Given the description of an element on the screen output the (x, y) to click on. 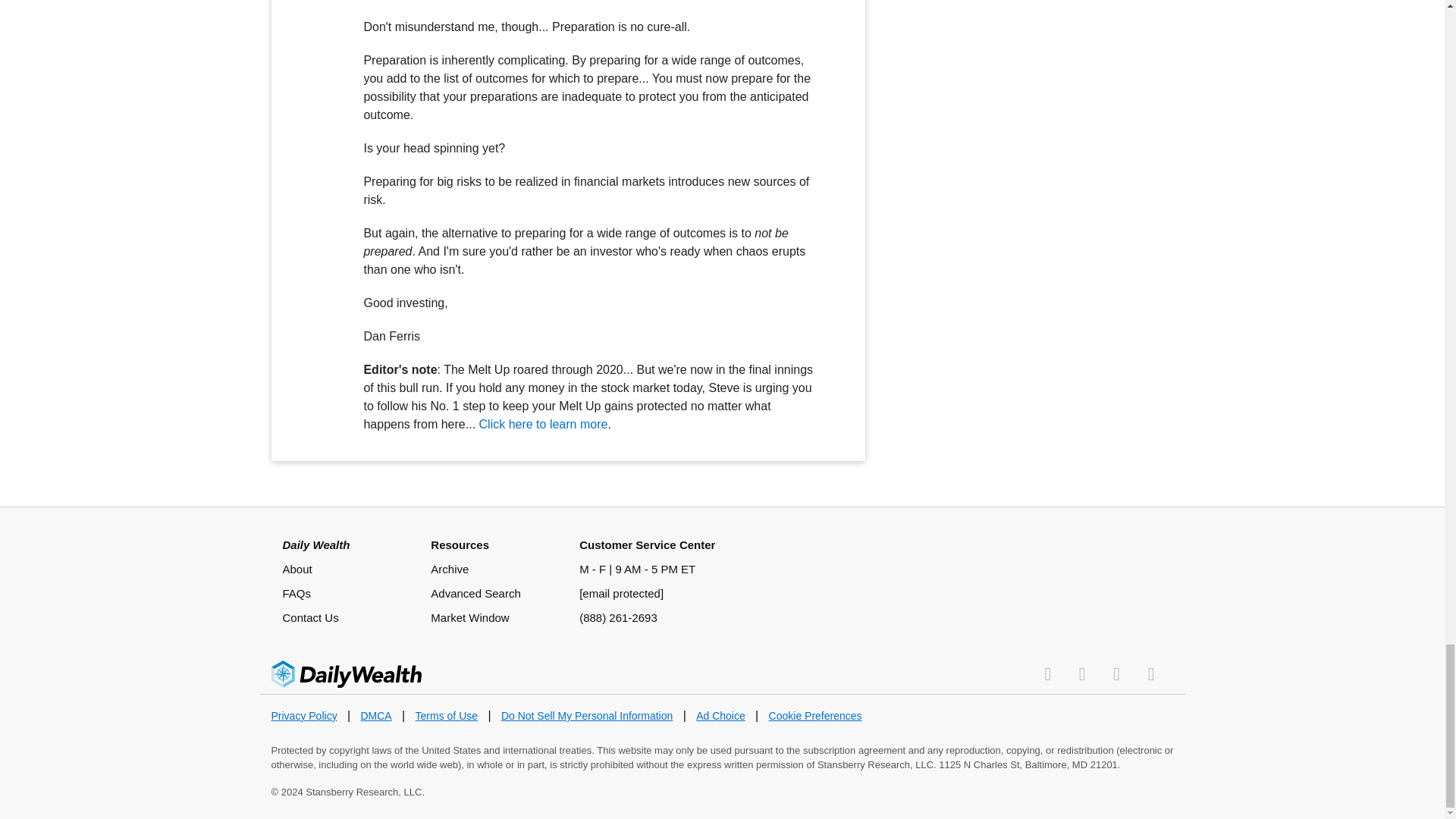
Click here to learn more (543, 423)
Archive (449, 568)
FAQs (296, 593)
Contact Us (309, 617)
About (296, 568)
